Given the description of an element on the screen output the (x, y) to click on. 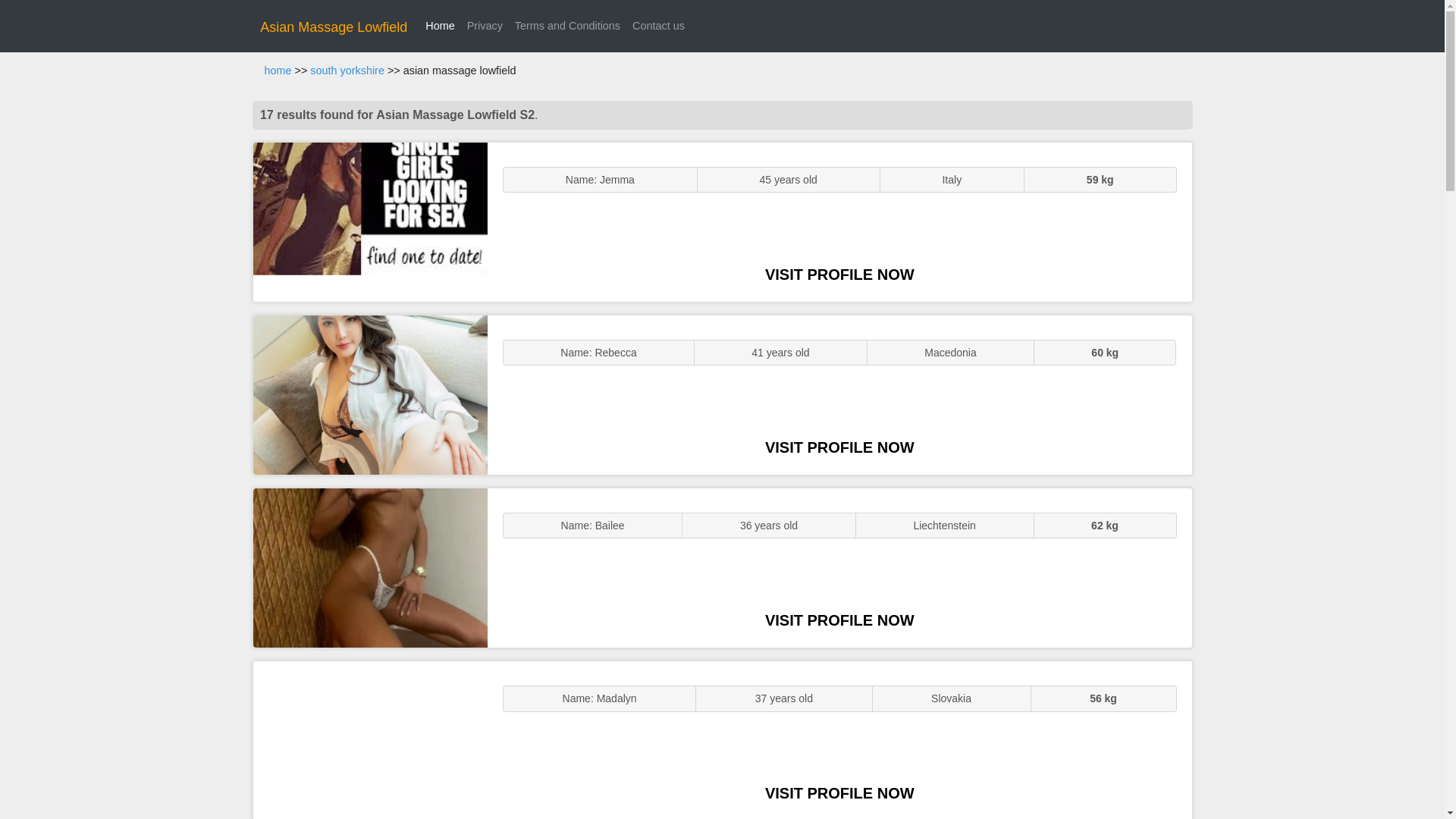
VISIT PROFILE NOW (839, 274)
GFE (370, 395)
Asian Massage Lowfield (333, 27)
VISIT PROFILE NOW (839, 792)
VISIT PROFILE NOW (839, 619)
home (277, 70)
Contact us (658, 25)
Sexy (370, 567)
 ENGLISH STUNNER (370, 222)
south yorkshire (347, 70)
